Given the description of an element on the screen output the (x, y) to click on. 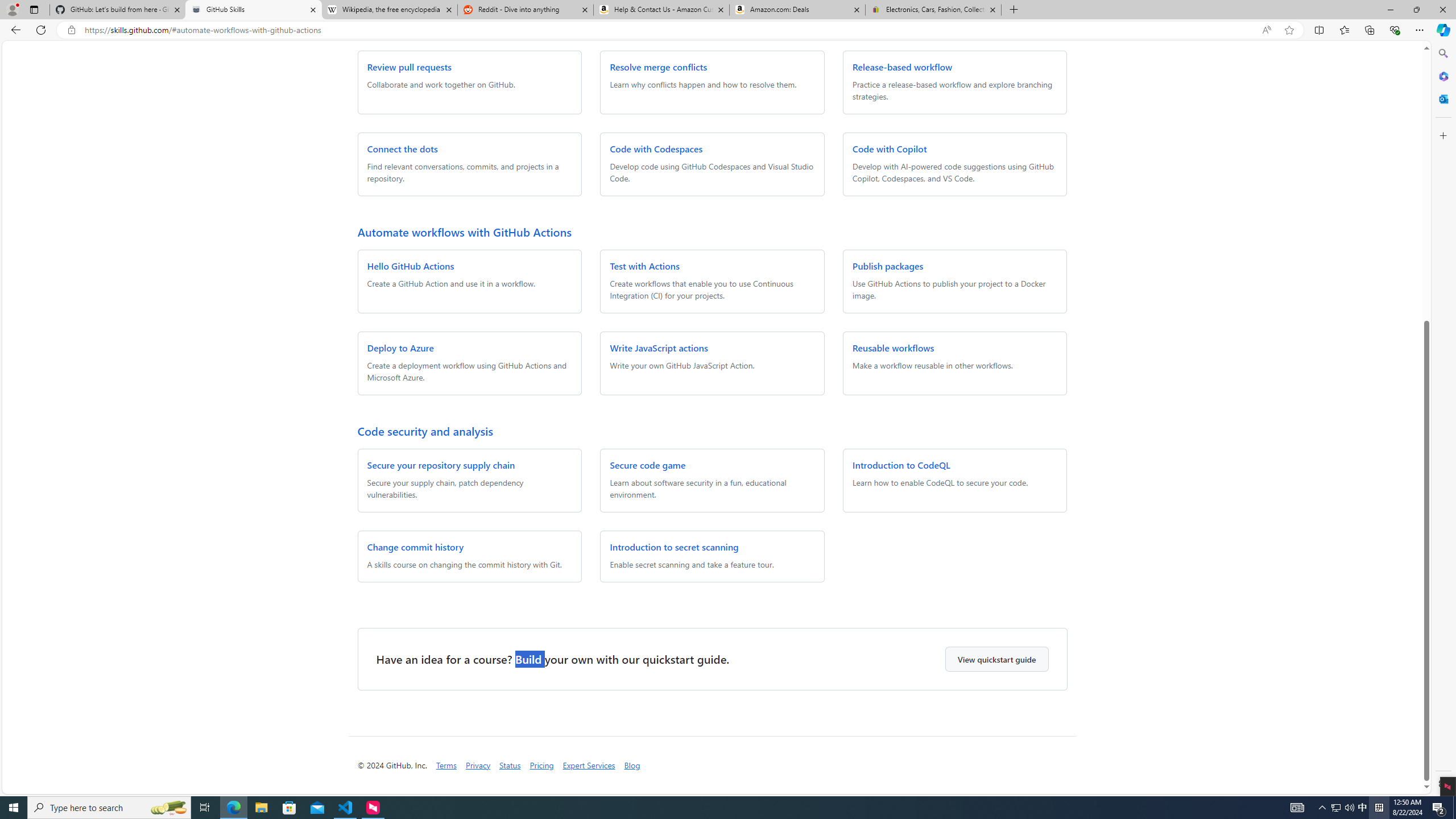
Hello GitHub Actions (410, 265)
Reusable workflows (892, 347)
View quickstart guide (996, 659)
Help & Contact Us - Amazon Customer Service (660, 9)
Status (510, 765)
Code with Copilot (889, 148)
Introduction to CodeQL (900, 464)
Amazon.com: Deals (797, 9)
Blog (632, 765)
Test with Actions (644, 265)
